Given the description of an element on the screen output the (x, y) to click on. 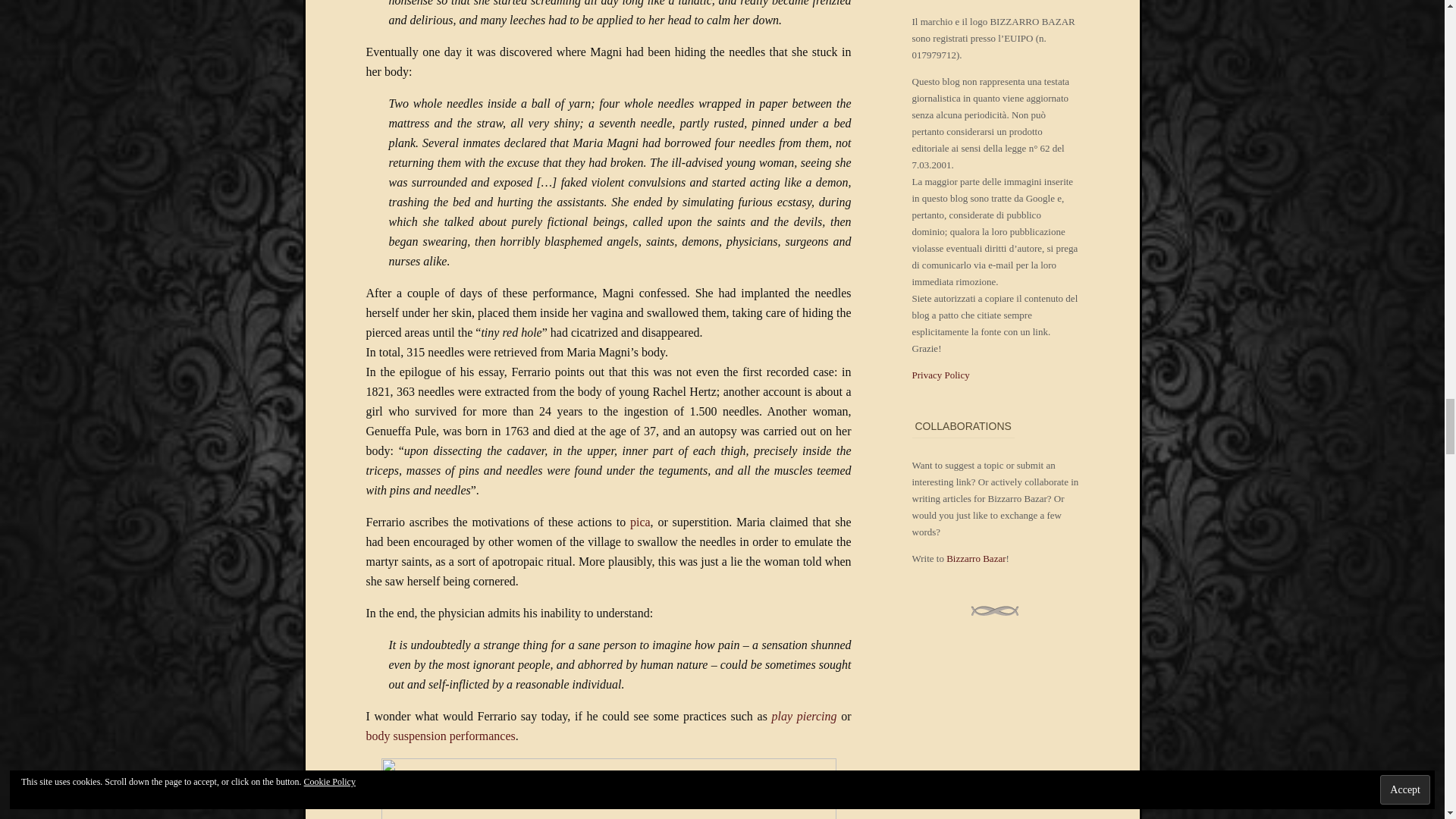
play piercing (804, 716)
body suspension performances (440, 735)
pica (640, 521)
